Given the description of an element on the screen output the (x, y) to click on. 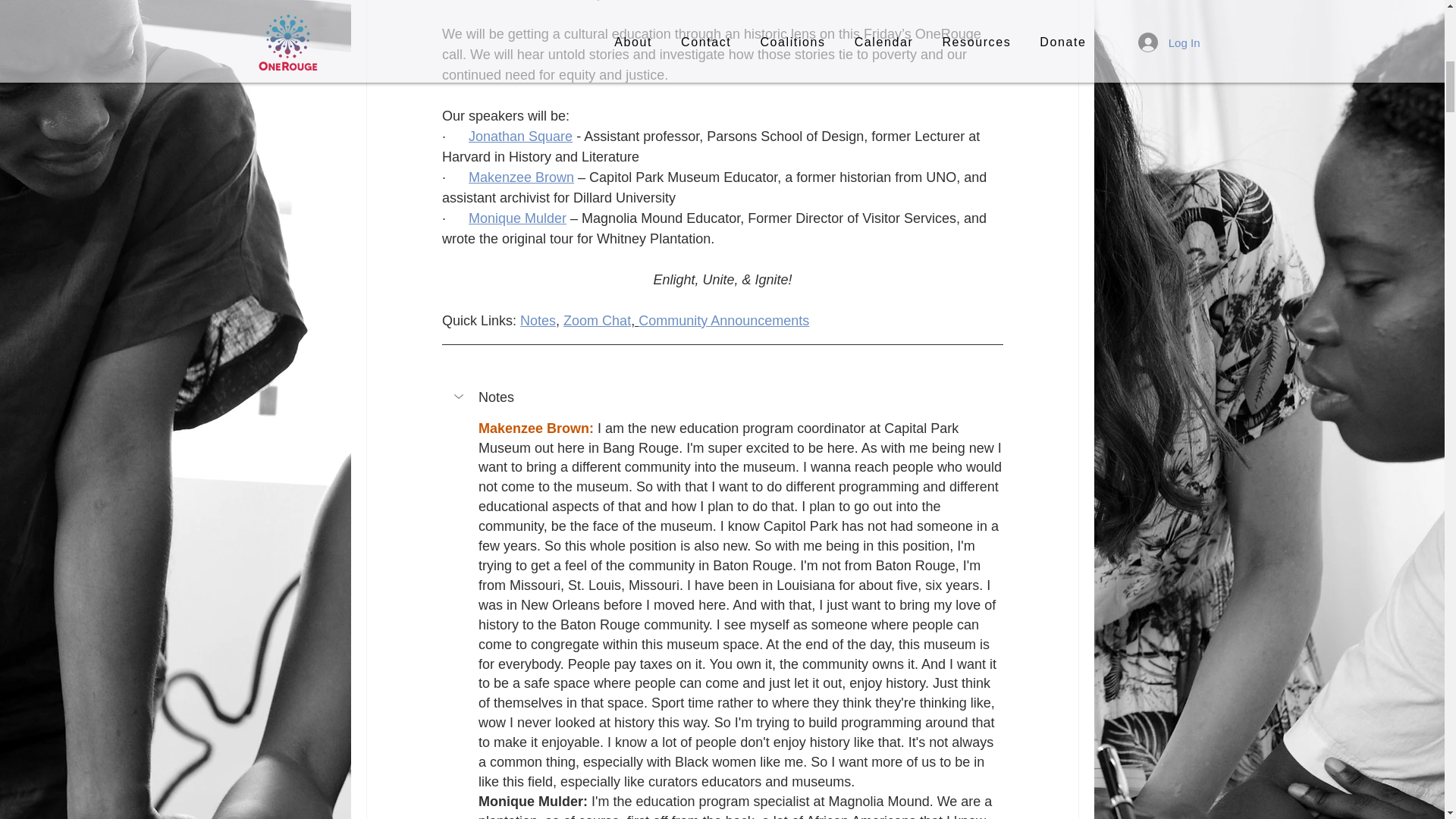
Community Announcements (724, 320)
Notes (537, 320)
Makenzee Brown (520, 177)
under fire (673, 0)
Monique Mulder (517, 218)
Zoom Chat (596, 320)
Jonathan Square (520, 136)
